Given the description of an element on the screen output the (x, y) to click on. 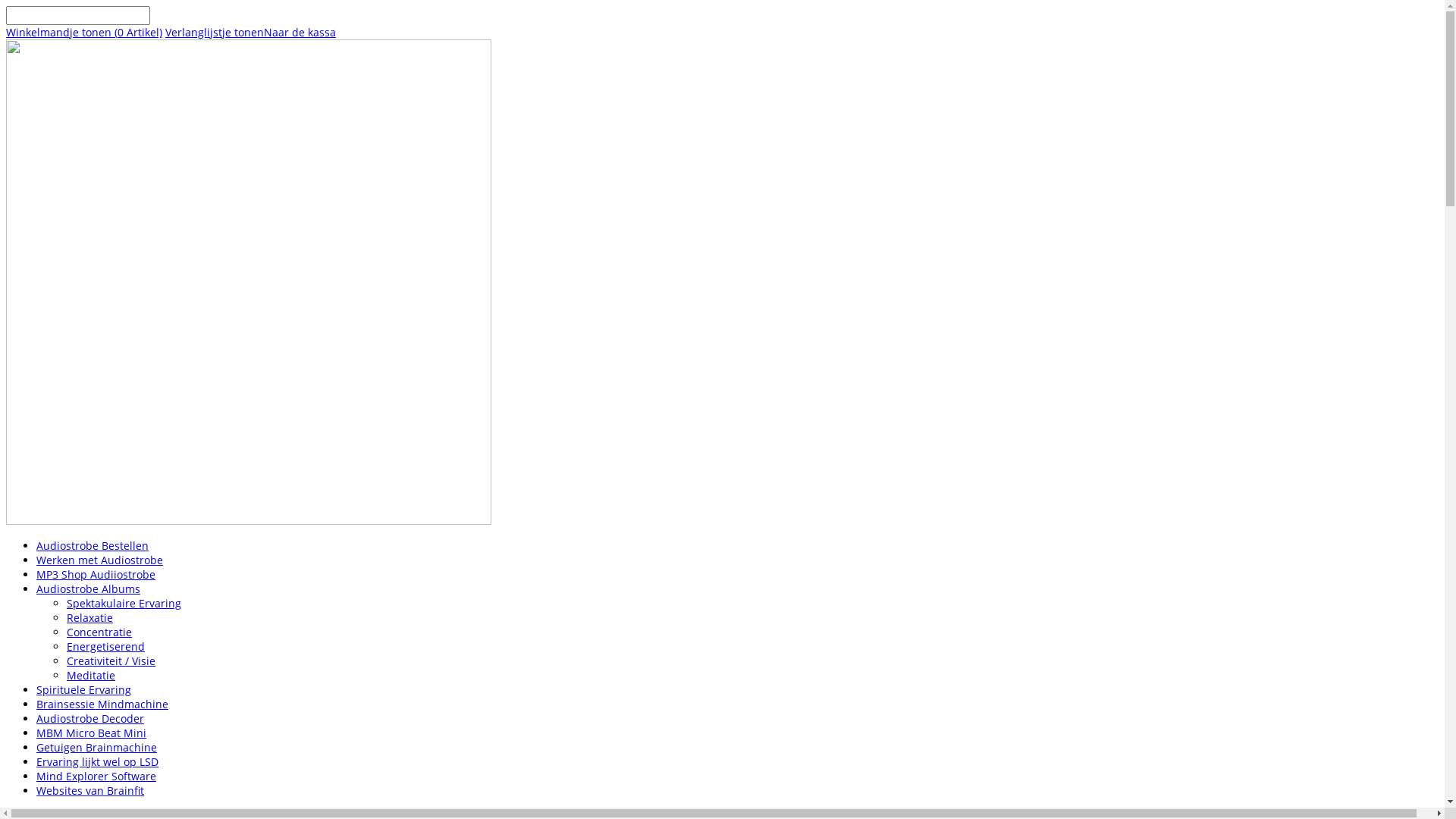
Ervaring lijkt wel op LSD Element type: text (97, 761)
Meditatie Element type: text (90, 675)
Audiostrobe Bestellen Element type: text (92, 545)
Concentratie Element type: text (98, 631)
Relaxatie Element type: text (89, 617)
Winkelmandje tonen (0 Artikel) Element type: text (84, 32)
MBM Micro Beat Mini Element type: text (91, 732)
Spektakulaire Ervaring Element type: text (123, 603)
MP3 Shop Audiiostrobe Element type: text (95, 574)
Naar de kassa Element type: text (299, 32)
Creativiteit / Visie Element type: text (110, 660)
Verlanglijstje tonen Element type: text (214, 32)
Mind Explorer Software Element type: text (96, 775)
Brainsessie Mindmachine Element type: text (102, 703)
Audiostrobe Decoder Element type: text (90, 718)
Getuigen Brainmachine Element type: text (96, 747)
Werken met Audiostrobe Element type: text (99, 559)
Energetiserend Element type: text (105, 646)
Websites van Brainfit Element type: text (90, 790)
Spirituele Ervaring Element type: text (83, 689)
Audiostrobe Albums Element type: text (88, 588)
